Given the description of an element on the screen output the (x, y) to click on. 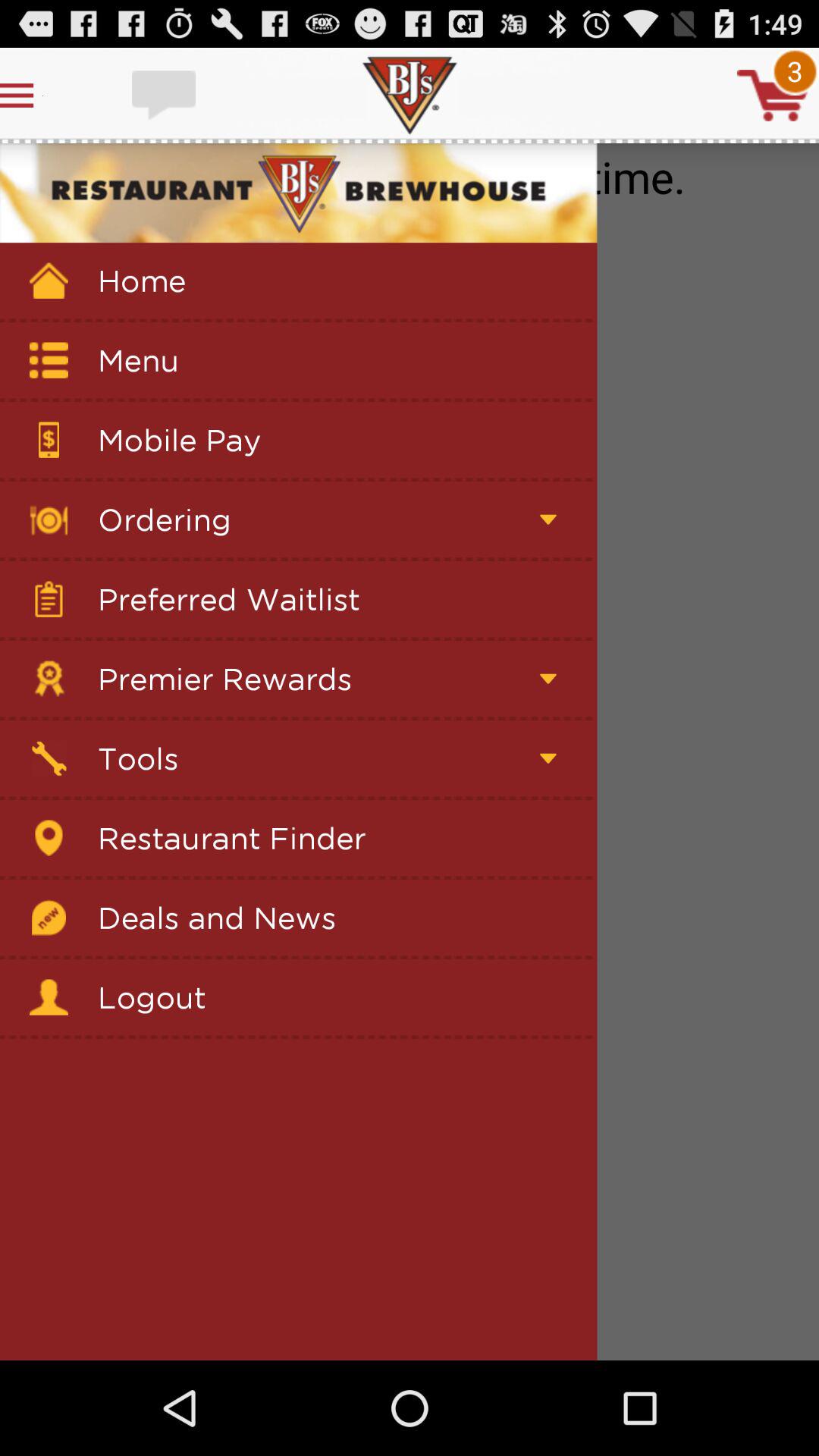
input text (165, 95)
